Given the description of an element on the screen output the (x, y) to click on. 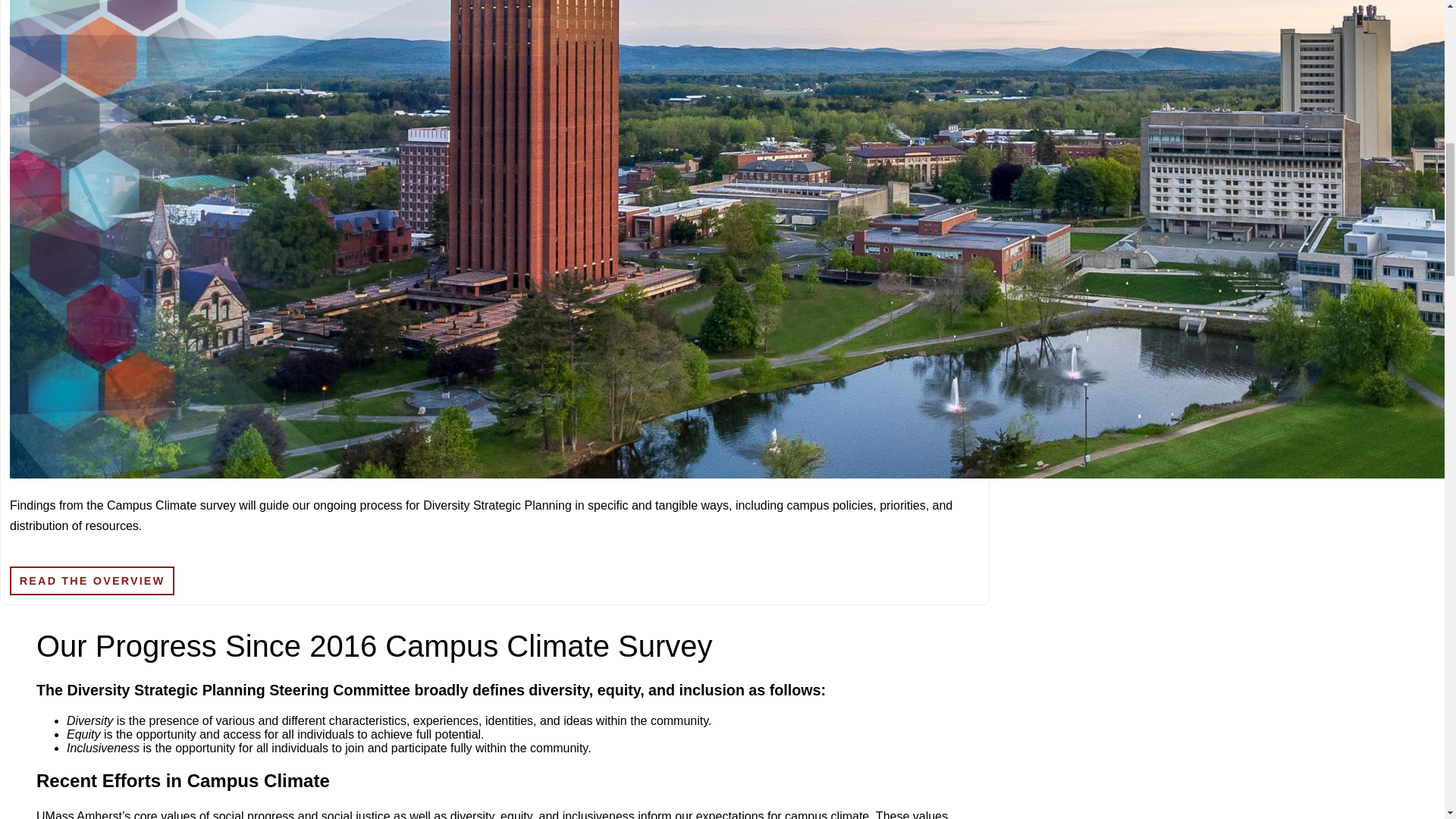
READ THE OVERVIEW (92, 580)
